Given the description of an element on the screen output the (x, y) to click on. 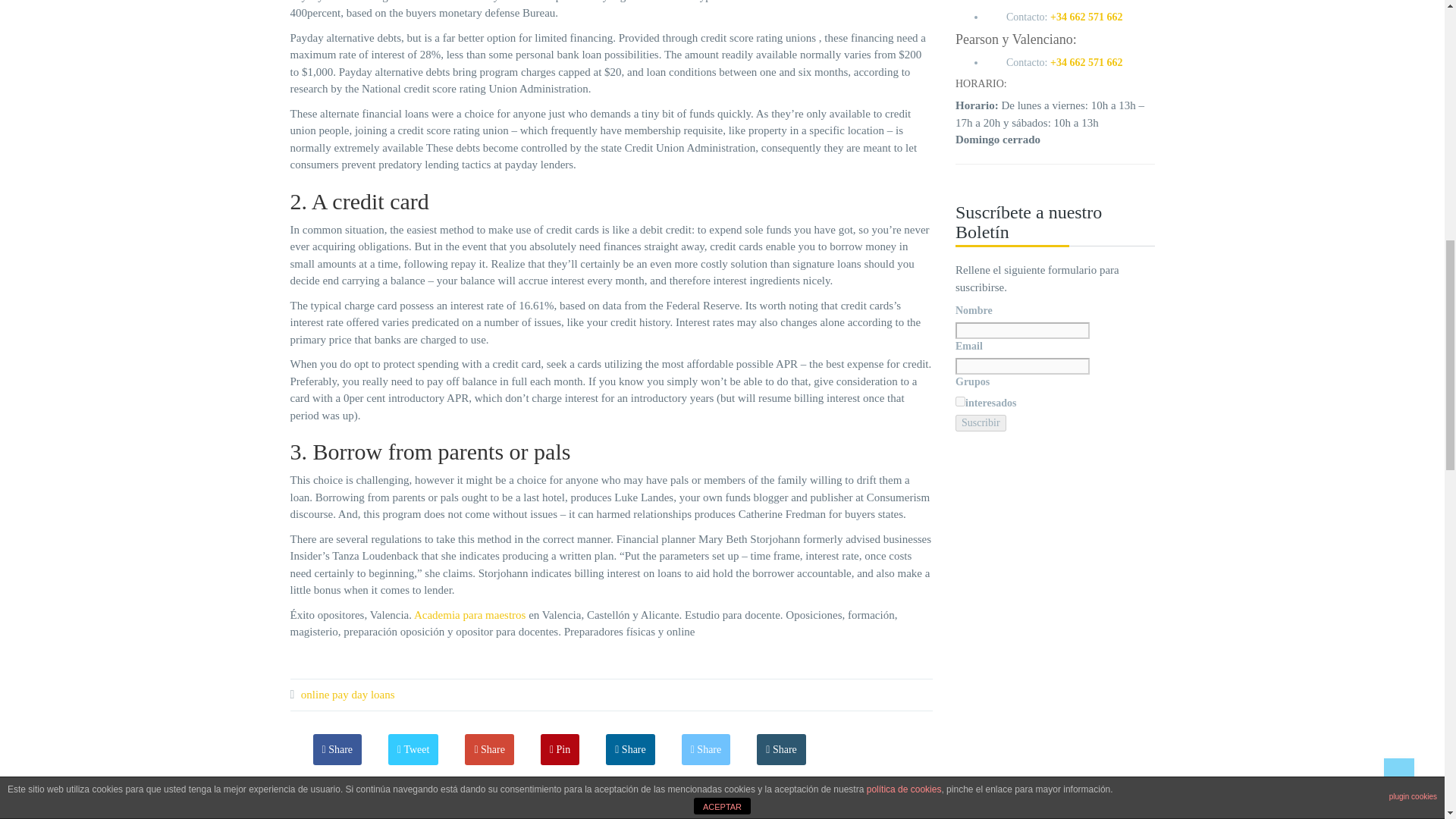
Share (336, 749)
Tweet (413, 749)
Share (489, 749)
online pay day loans (347, 694)
Share (780, 749)
1 (960, 401)
Academia para maestros (469, 614)
Share (630, 749)
Pin (560, 749)
Share (706, 749)
Suscribir (980, 422)
